Given the description of an element on the screen output the (x, y) to click on. 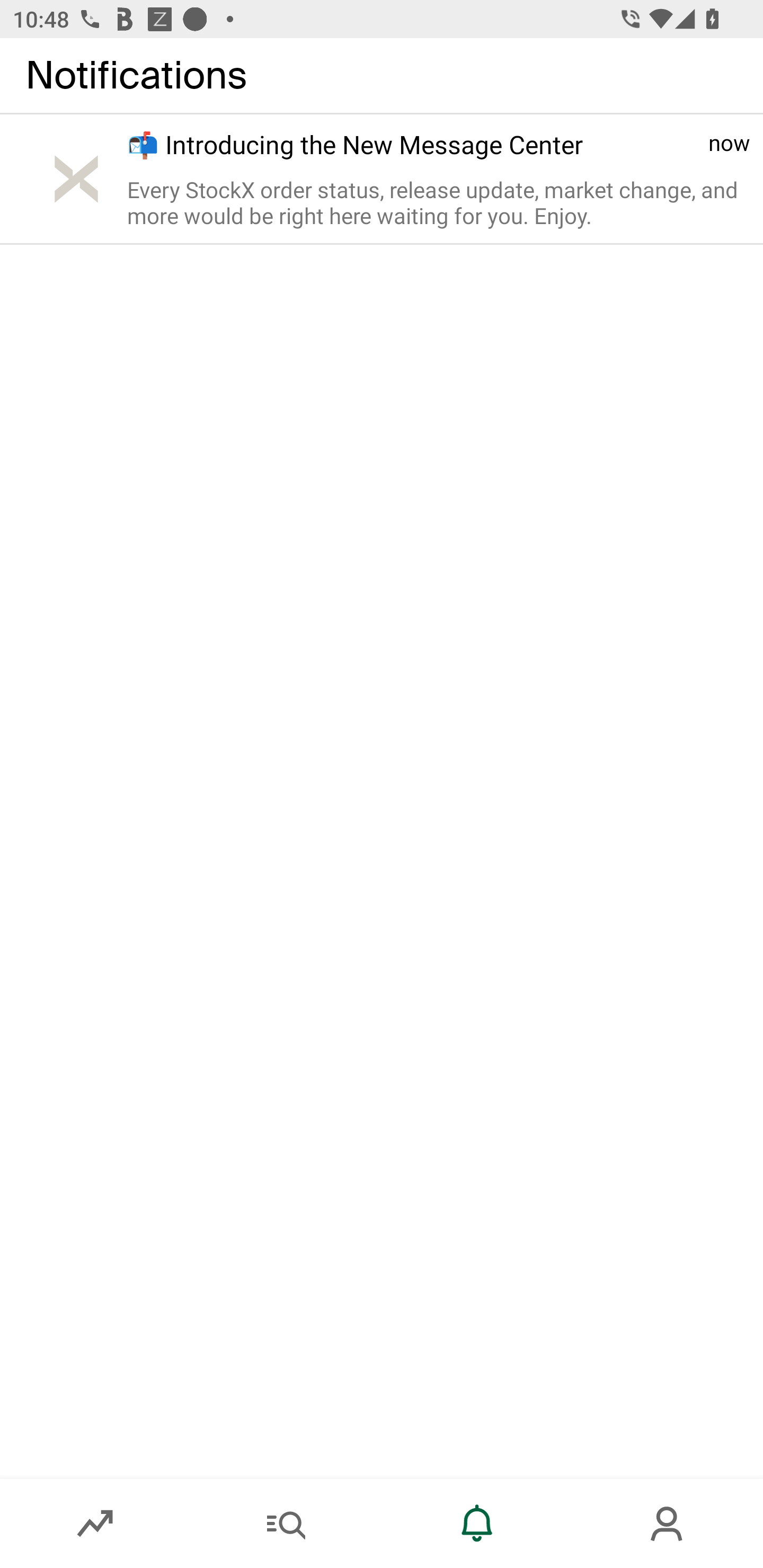
Market (95, 1523)
Search (285, 1523)
Account (667, 1523)
